Given the description of an element on the screen output the (x, y) to click on. 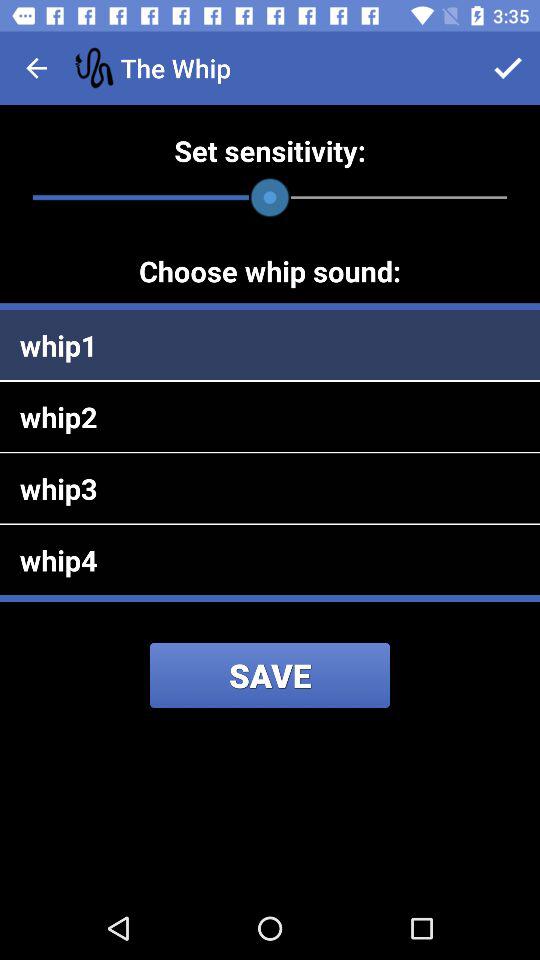
swipe to save item (269, 675)
